Given the description of an element on the screen output the (x, y) to click on. 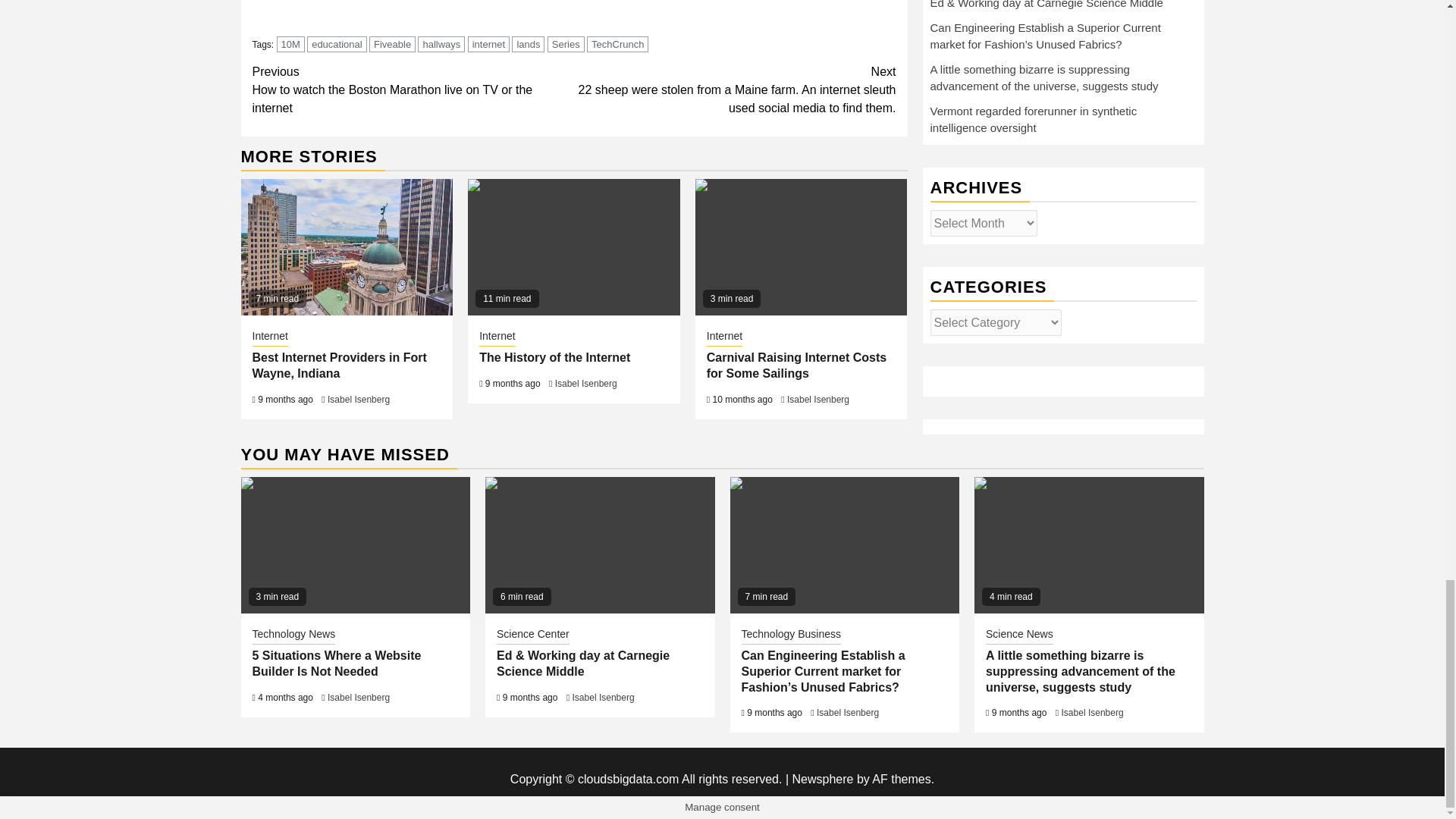
Series (566, 44)
Best Internet Providers in Fort Wayne, Indiana (346, 247)
The History of the Internet (573, 247)
Internet (268, 337)
lands (528, 44)
educational (336, 44)
10M (290, 44)
internet (488, 44)
TechCrunch (616, 44)
5 Situations Where a Website Builder Is Not Needed (355, 544)
Fiveable (391, 44)
Carnival Raising Internet Costs for Some Sailings (801, 247)
